Given the description of an element on the screen output the (x, y) to click on. 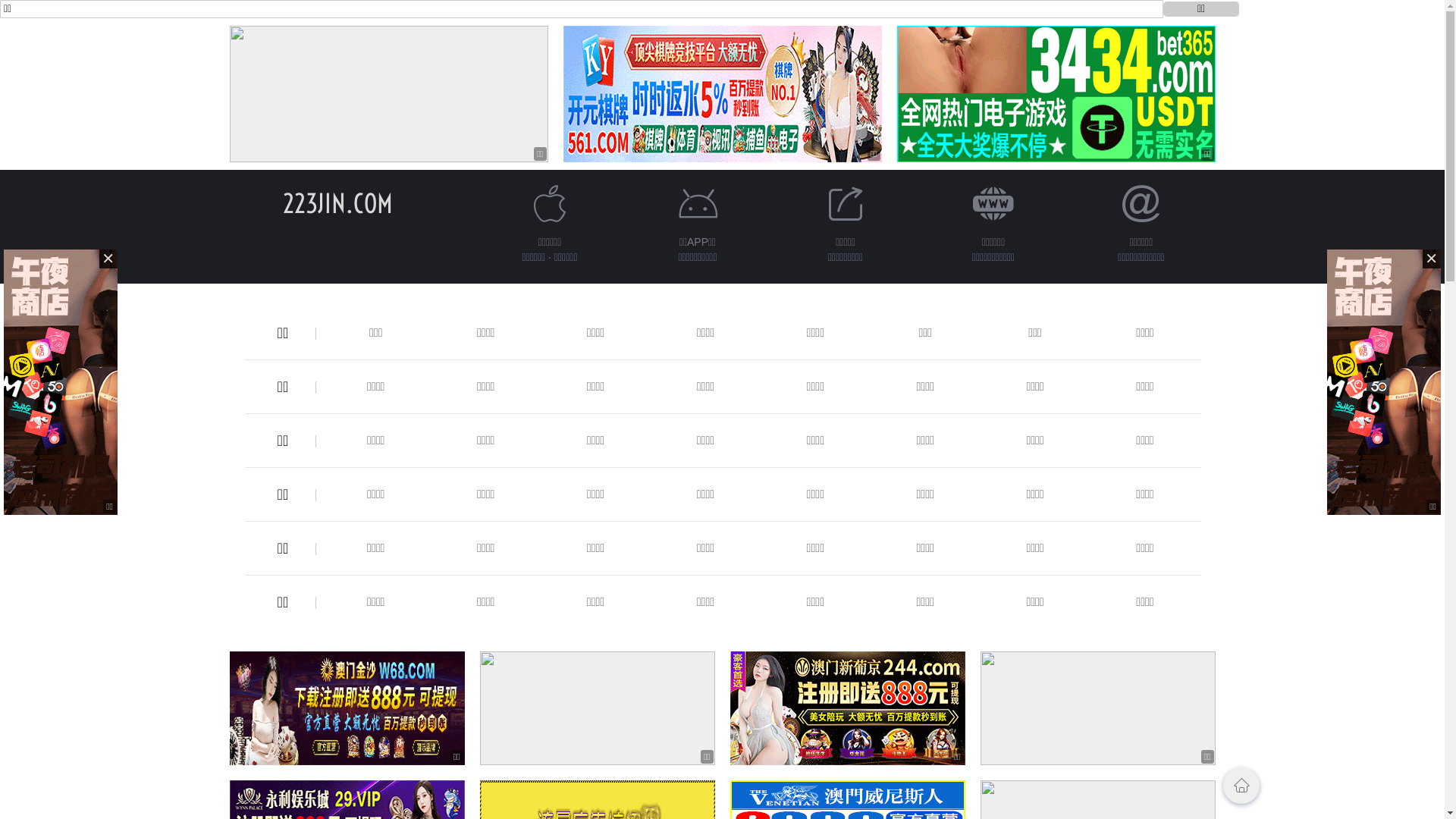
223JIN.COM Element type: text (337, 203)
